Given the description of an element on the screen output the (x, y) to click on. 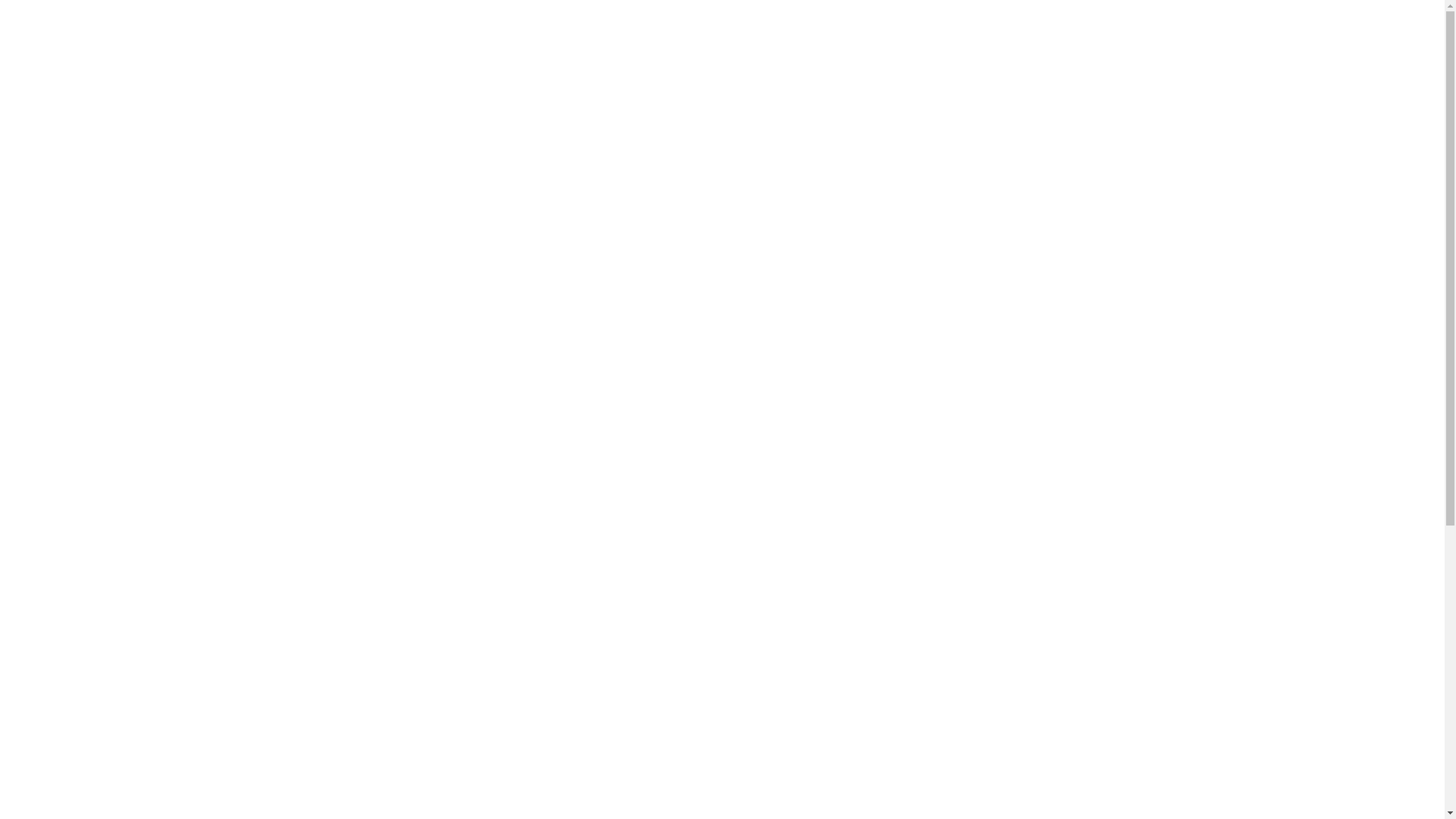
MENU Element type: text (49, 48)
Contact Element type: text (1370, 47)
Catalogue Element type: text (292, 345)
Recevez la documentation Element type: text (853, 681)
Contact Element type: hover (1218, 47)
Mobilier de bureau professionnel Element type: text (448, 345)
